Given the description of an element on the screen output the (x, y) to click on. 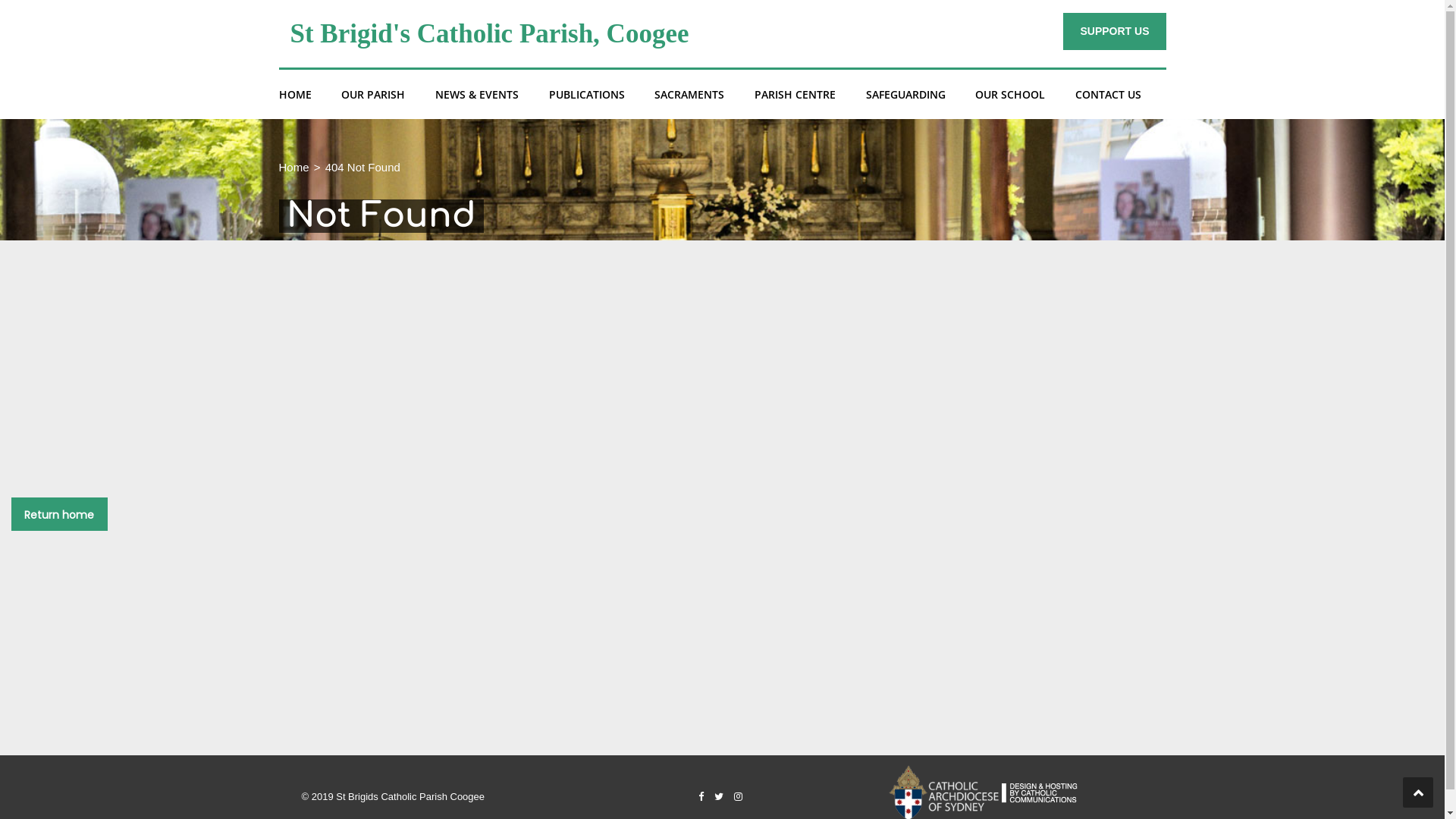
Return home Element type: text (59, 513)
Facebook Element type: hover (700, 796)
SUPPORT US Element type: text (1114, 31)
SACRAMENTS Element type: text (689, 94)
Twitter Element type: hover (718, 796)
OUR PARISH Element type: text (372, 94)
HOME Element type: text (295, 94)
Home Element type: text (294, 166)
Instagram Element type: hover (738, 796)
PARISH CENTRE Element type: text (794, 94)
St Brigid's Catholic Parish, Coogee Element type: text (488, 33)
OUR SCHOOL Element type: text (1009, 94)
CONTACT US Element type: text (1108, 94)
SAFEGUARDING Element type: text (905, 94)
Search Element type: text (1144, 162)
NEWS & EVENTS Element type: text (476, 94)
PUBLICATIONS Element type: text (586, 94)
